Given the description of an element on the screen output the (x, y) to click on. 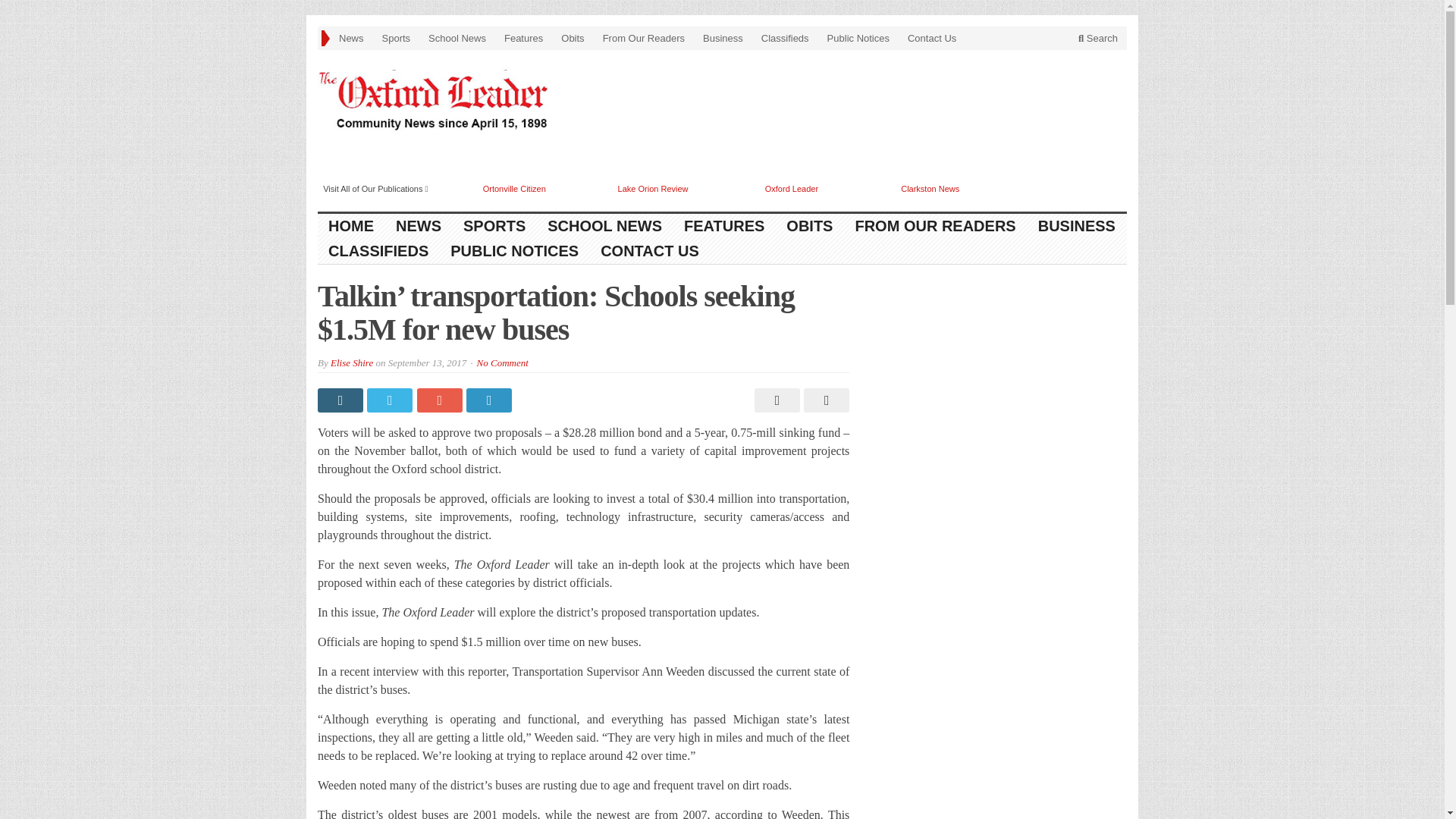
BUSINESS (1076, 226)
CONTACT US (649, 251)
Share on Facebook (341, 400)
Public Notices (858, 37)
Clarkston News (930, 188)
Business (723, 37)
Print This Post (775, 400)
Lake Orion Review (652, 188)
CLASSIFIEDS (378, 251)
Elise Shire (351, 362)
